Given the description of an element on the screen output the (x, y) to click on. 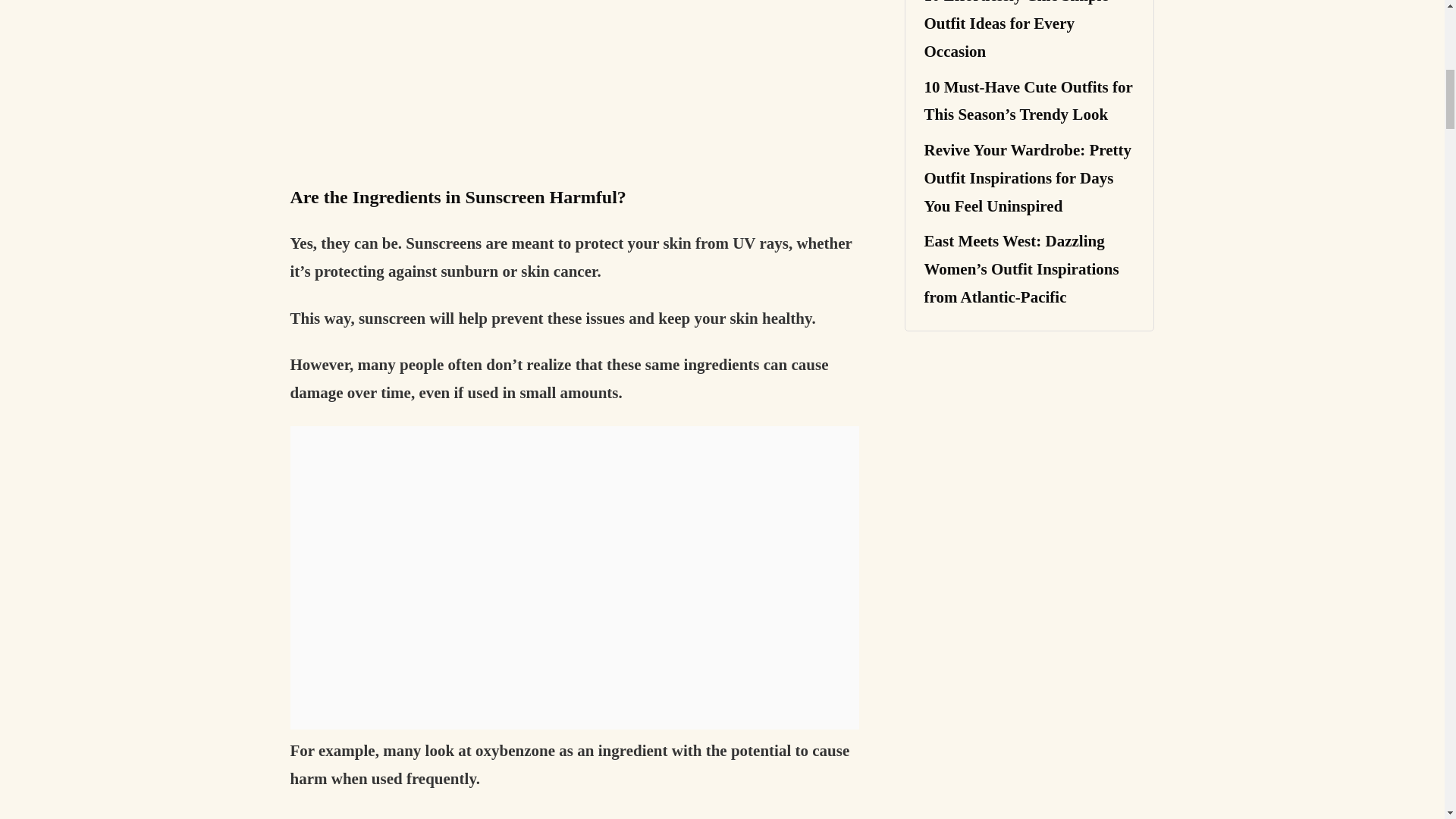
10 Effortlessly Chic Simple Outfit Ideas for Every Occasion (1015, 30)
